Given the description of an element on the screen output the (x, y) to click on. 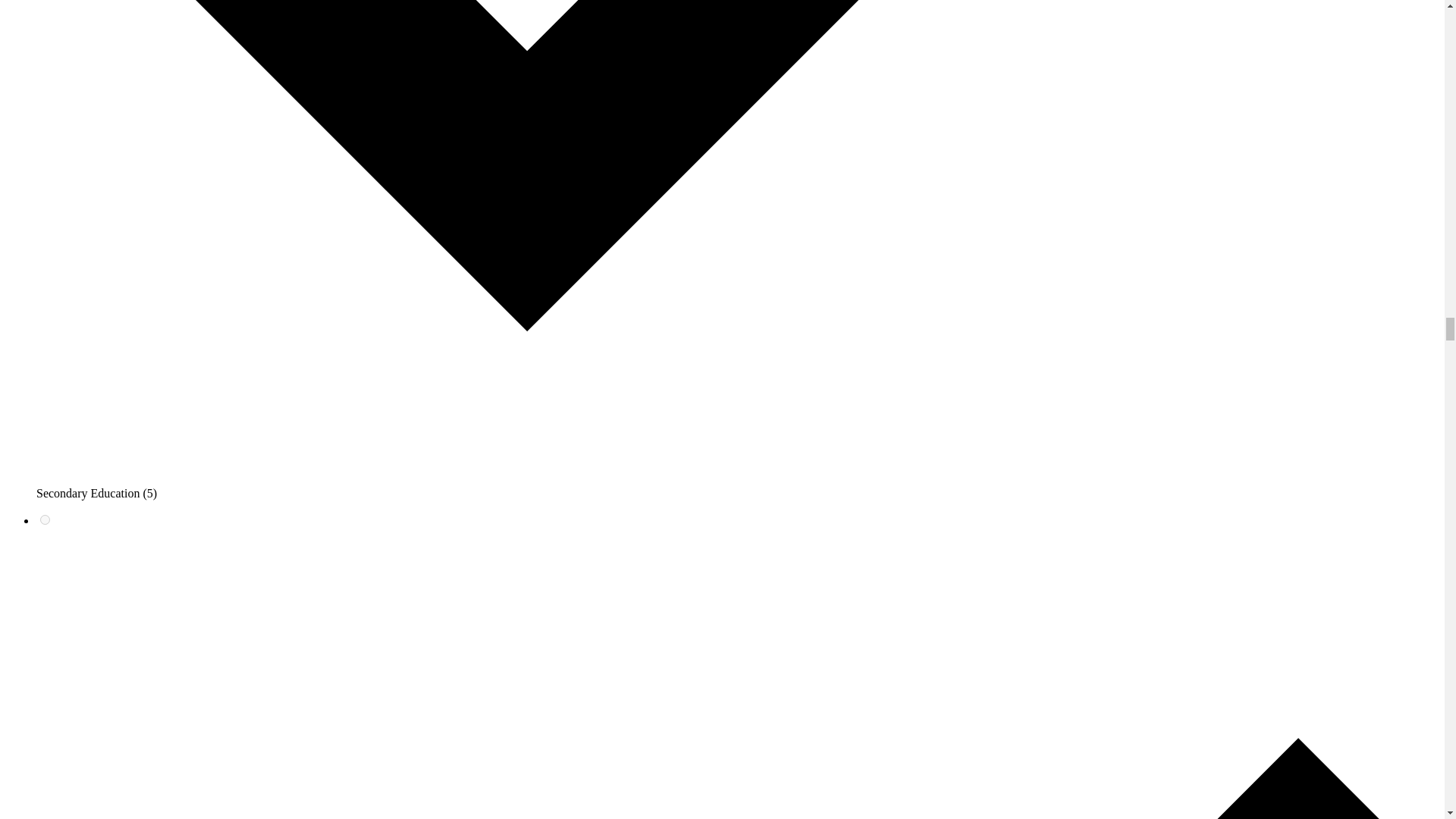
6 (44, 519)
